Given the description of an element on the screen output the (x, y) to click on. 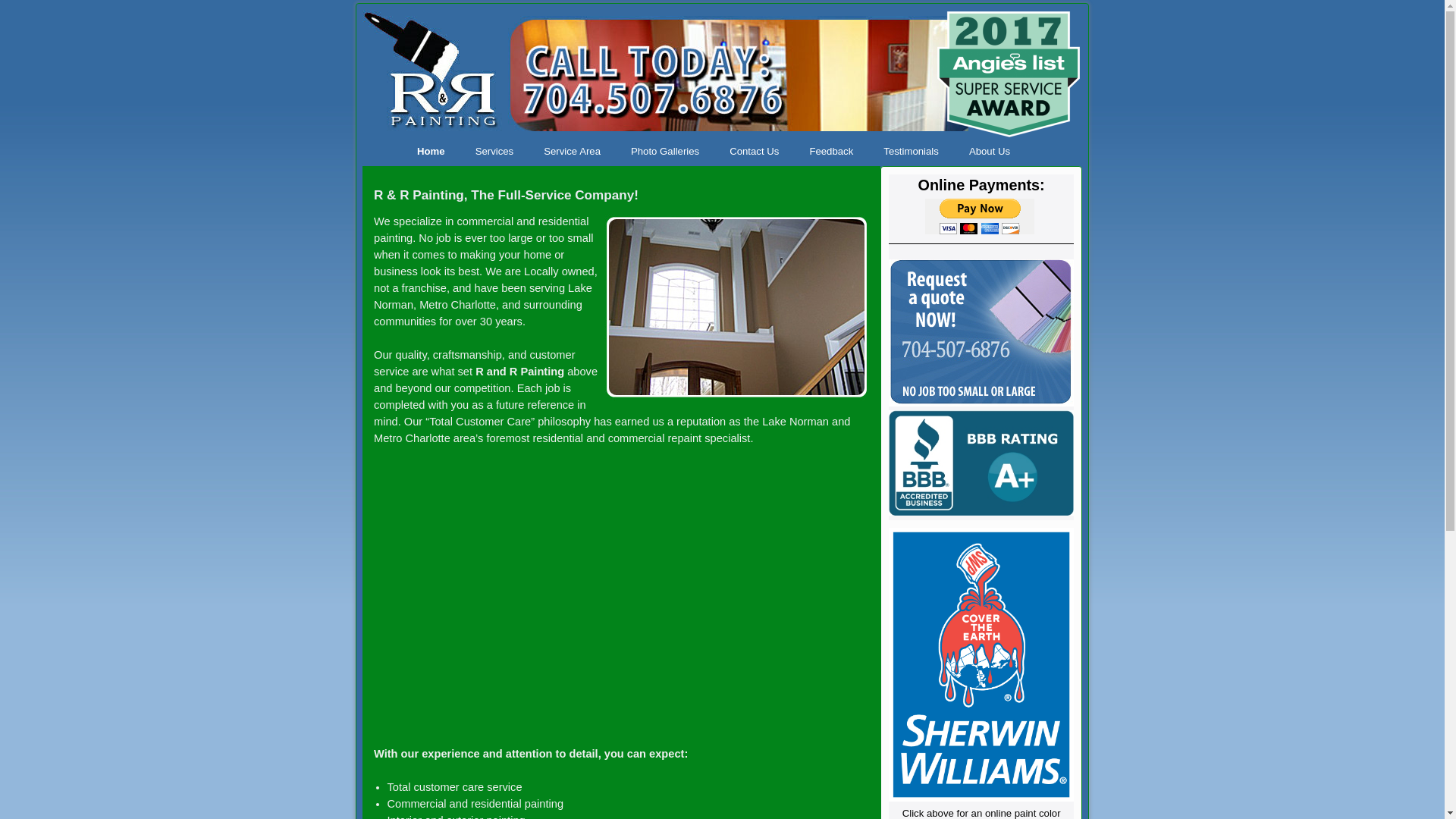
Home (430, 151)
Skip to primary content (405, 143)
Service Area (571, 151)
Photo Galleries (664, 151)
About Us (989, 151)
Contact Us (753, 151)
Feedback (830, 151)
R and R Painting, LLC. (721, 73)
Services (494, 151)
Testimonials (910, 151)
Skip to secondary content (410, 143)
